Given the description of an element on the screen output the (x, y) to click on. 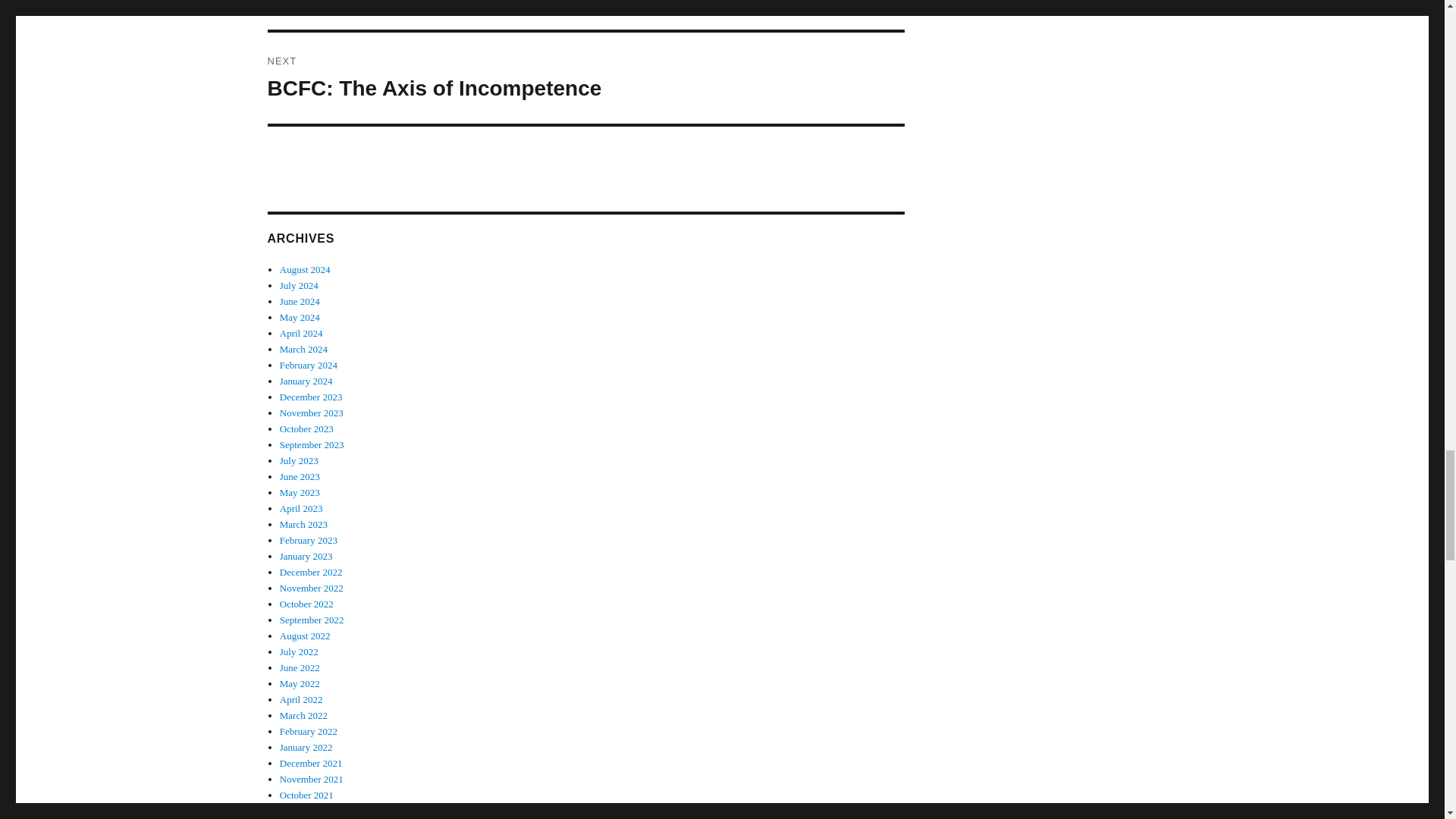
January 2024 (306, 380)
March 2023 (303, 523)
October 2023 (306, 428)
February 2024 (585, 14)
May 2023 (308, 365)
April 2023 (299, 491)
May 2024 (585, 77)
June 2024 (301, 508)
